Given the description of an element on the screen output the (x, y) to click on. 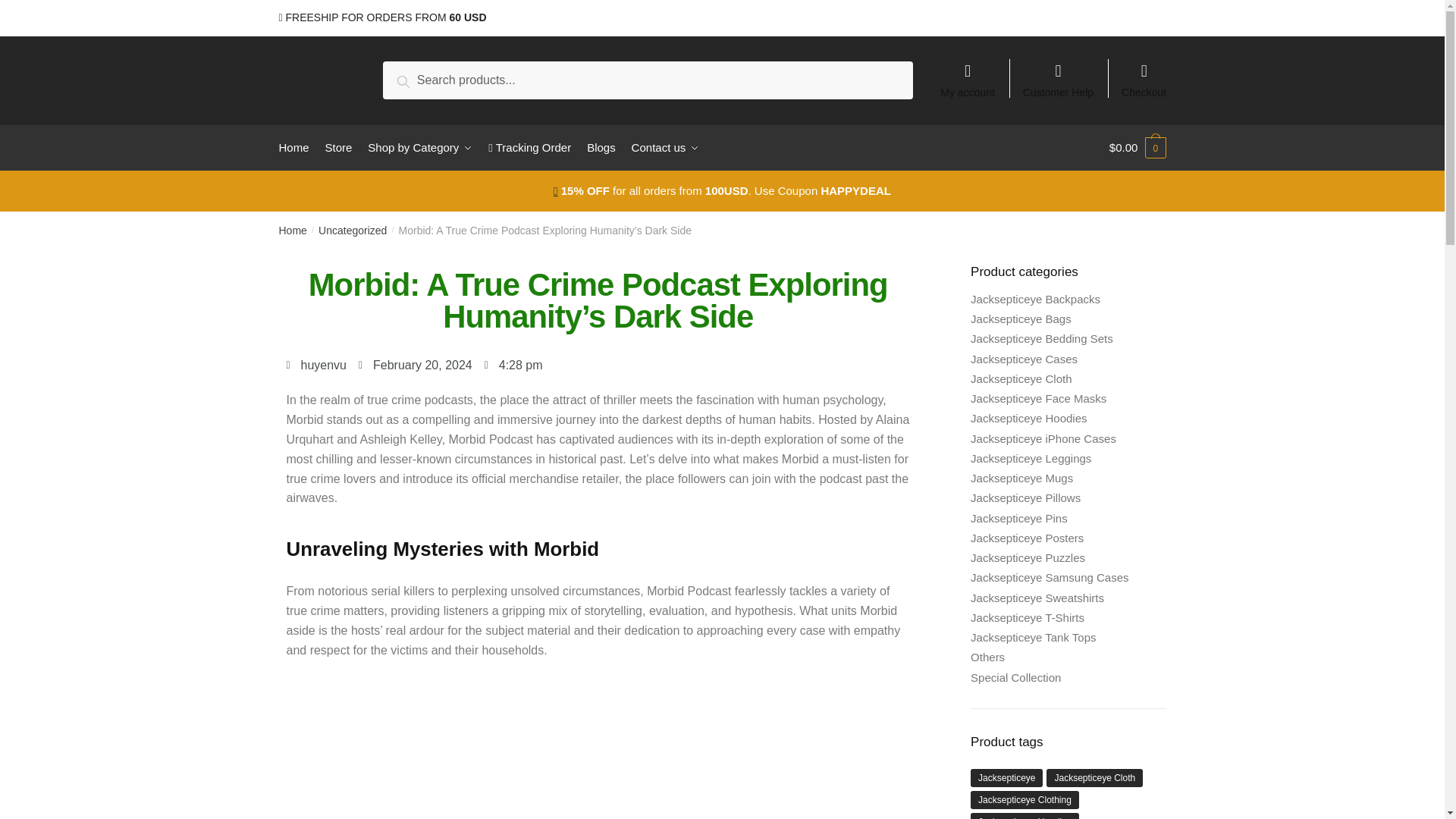
Shop by Category (420, 147)
My account (967, 73)
Search (420, 78)
Checkout (1144, 73)
Store (338, 147)
Customer Help (1058, 73)
View your shopping cart (1137, 147)
